Given the description of an element on the screen output the (x, y) to click on. 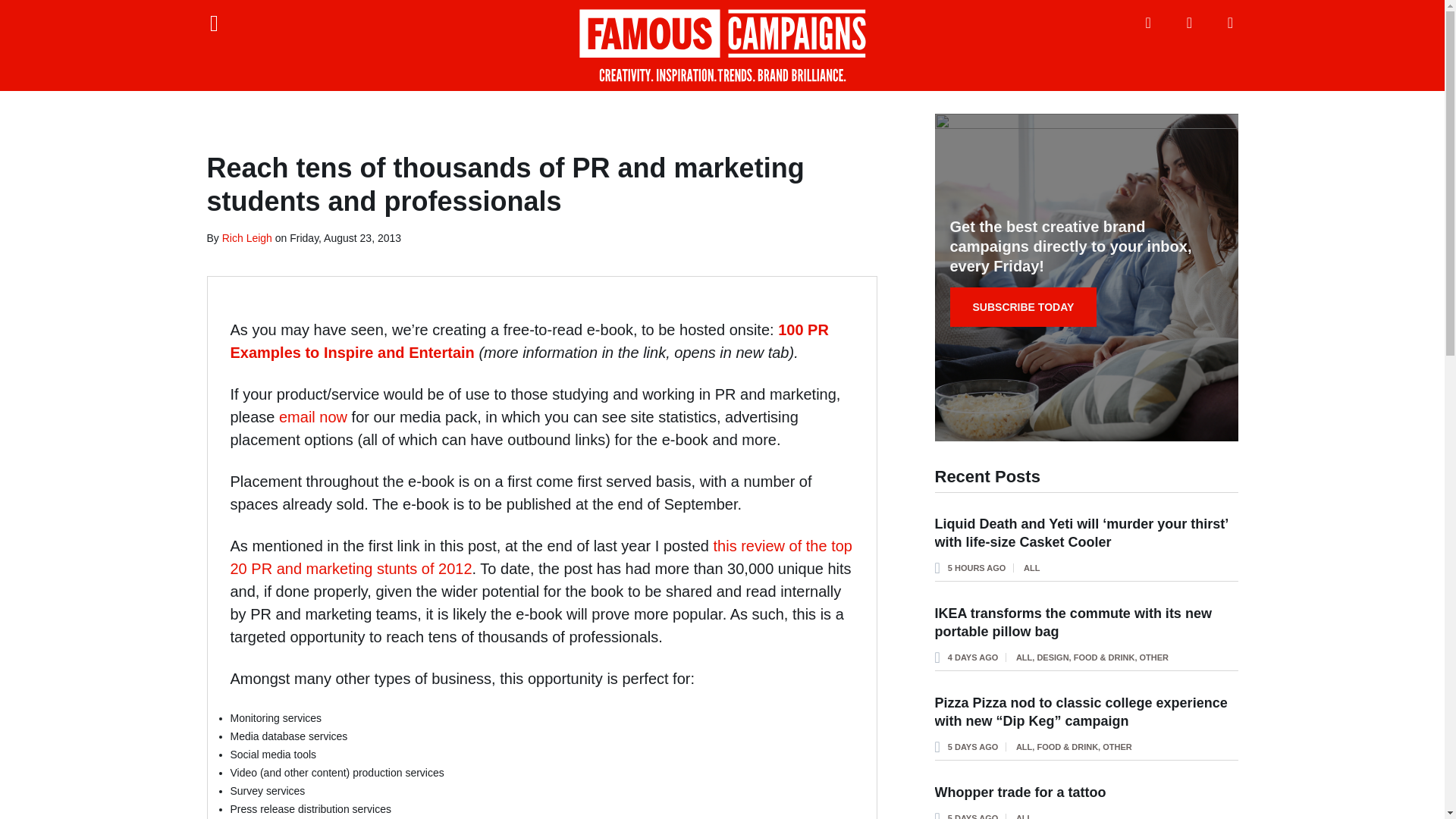
email now (313, 416)
Famous Campaigns (722, 45)
Posts by Rich Leigh (247, 237)
IKEA transforms the commute with its new portable pillow bag (1072, 622)
Whopper trade for a tattoo (1019, 792)
Rich Leigh (247, 237)
this review of the top 20 PR and marketing stunts of 2012 (540, 557)
100 PR Examples to Inspire and Entertain (529, 341)
